Given the description of an element on the screen output the (x, y) to click on. 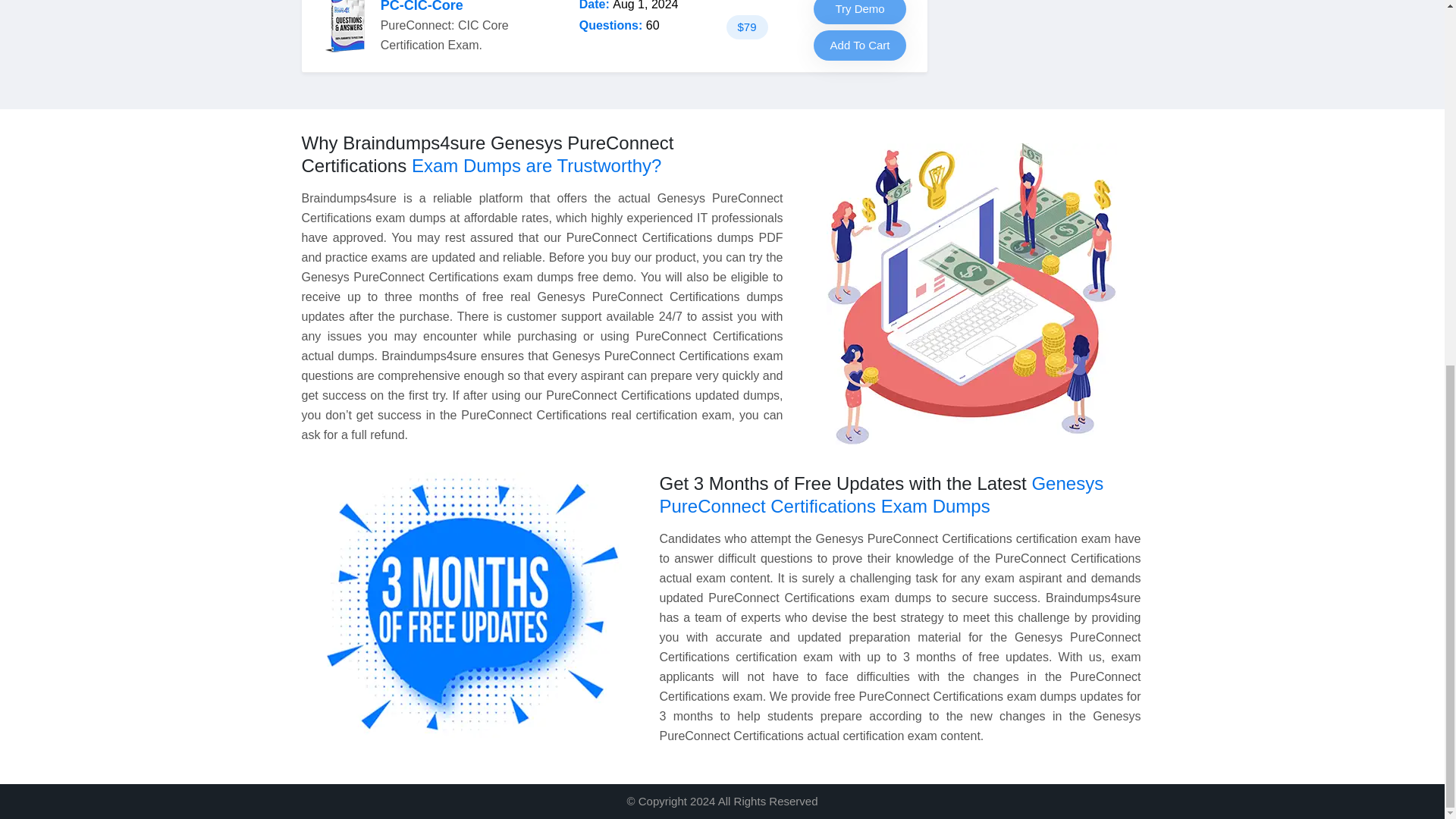
Try Demo (860, 12)
PC-CIC-Core (421, 6)
Add To Cart (860, 45)
Try Demo (860, 12)
